Given the description of an element on the screen output the (x, y) to click on. 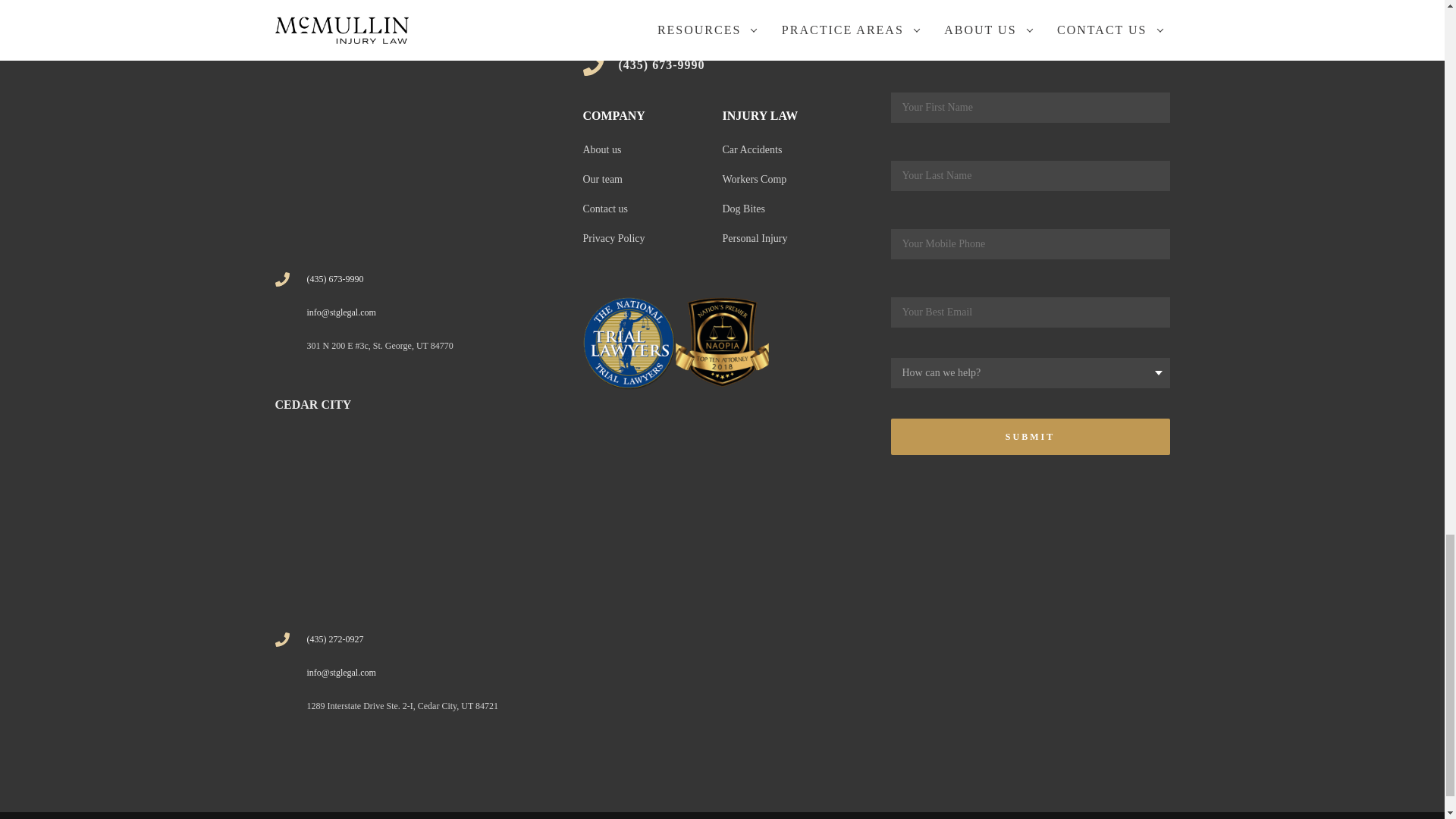
Submit (1029, 436)
